Given the description of an element on the screen output the (x, y) to click on. 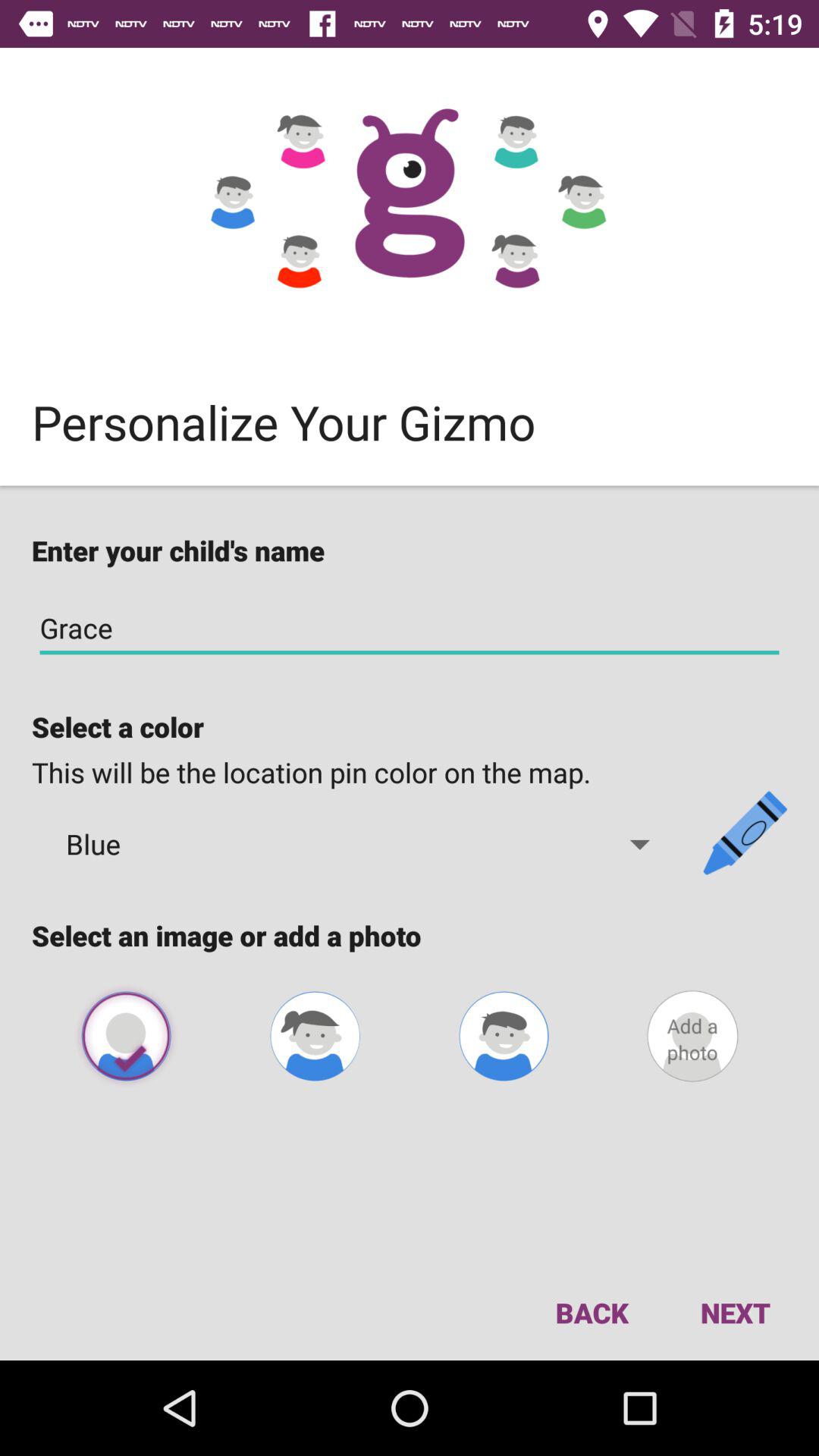
add a photo (692, 1036)
